Given the description of an element on the screen output the (x, y) to click on. 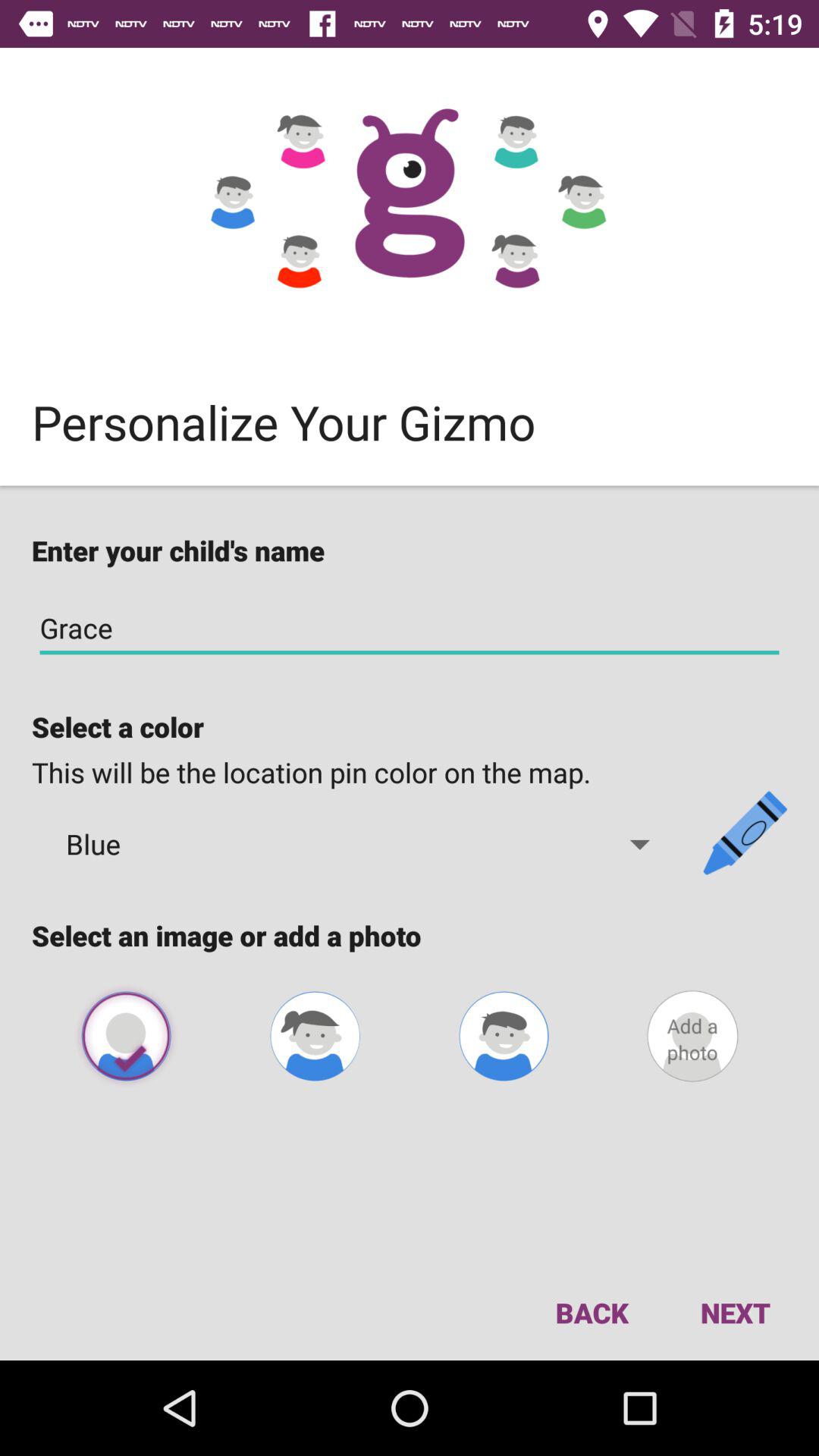
add a photo (692, 1036)
